Given the description of an element on the screen output the (x, y) to click on. 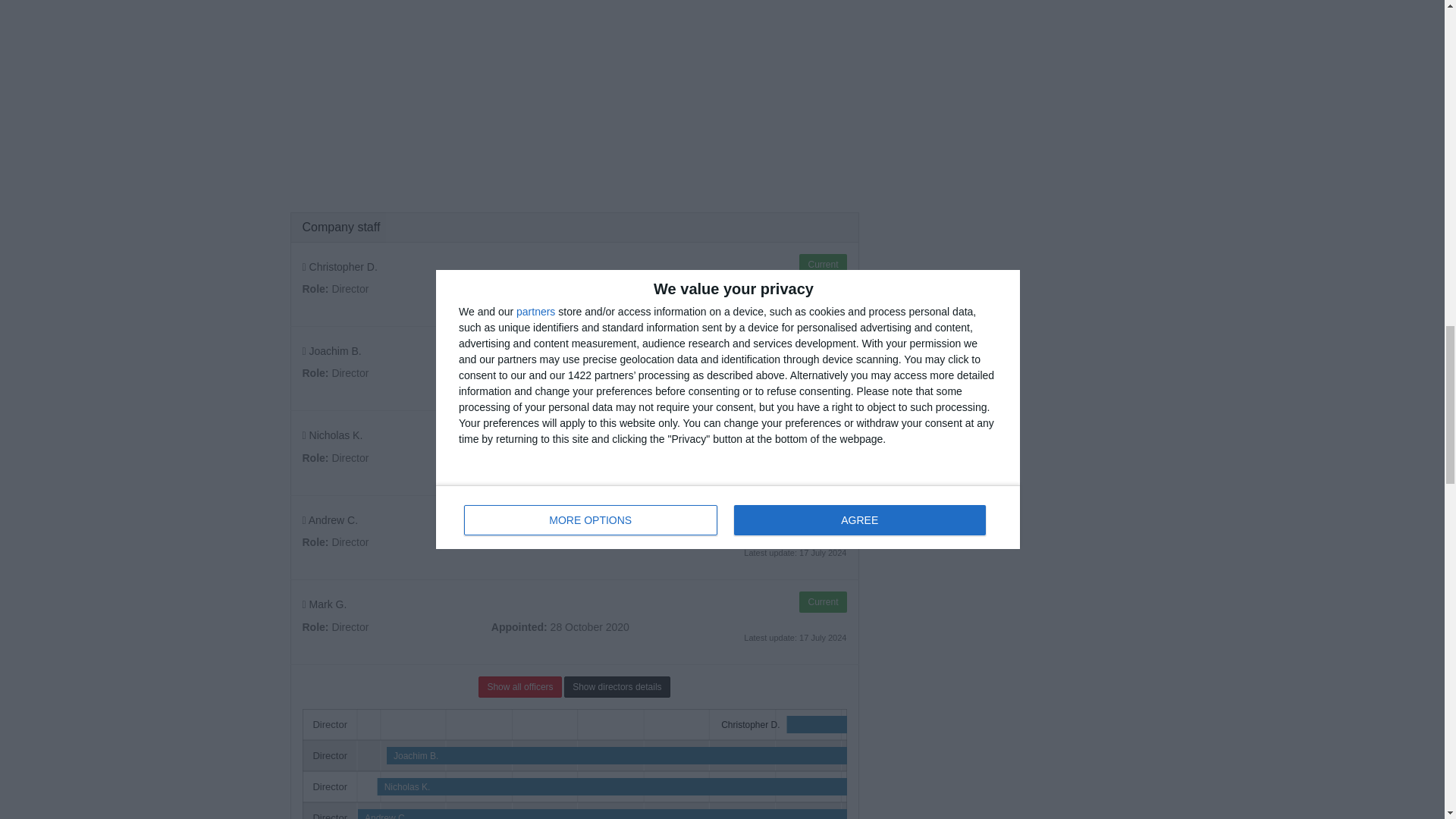
Current (822, 264)
Current (822, 601)
Current (822, 432)
Current (822, 517)
Show directors details (616, 686)
Show all officers (519, 686)
Current (822, 348)
